Given the description of an element on the screen output the (x, y) to click on. 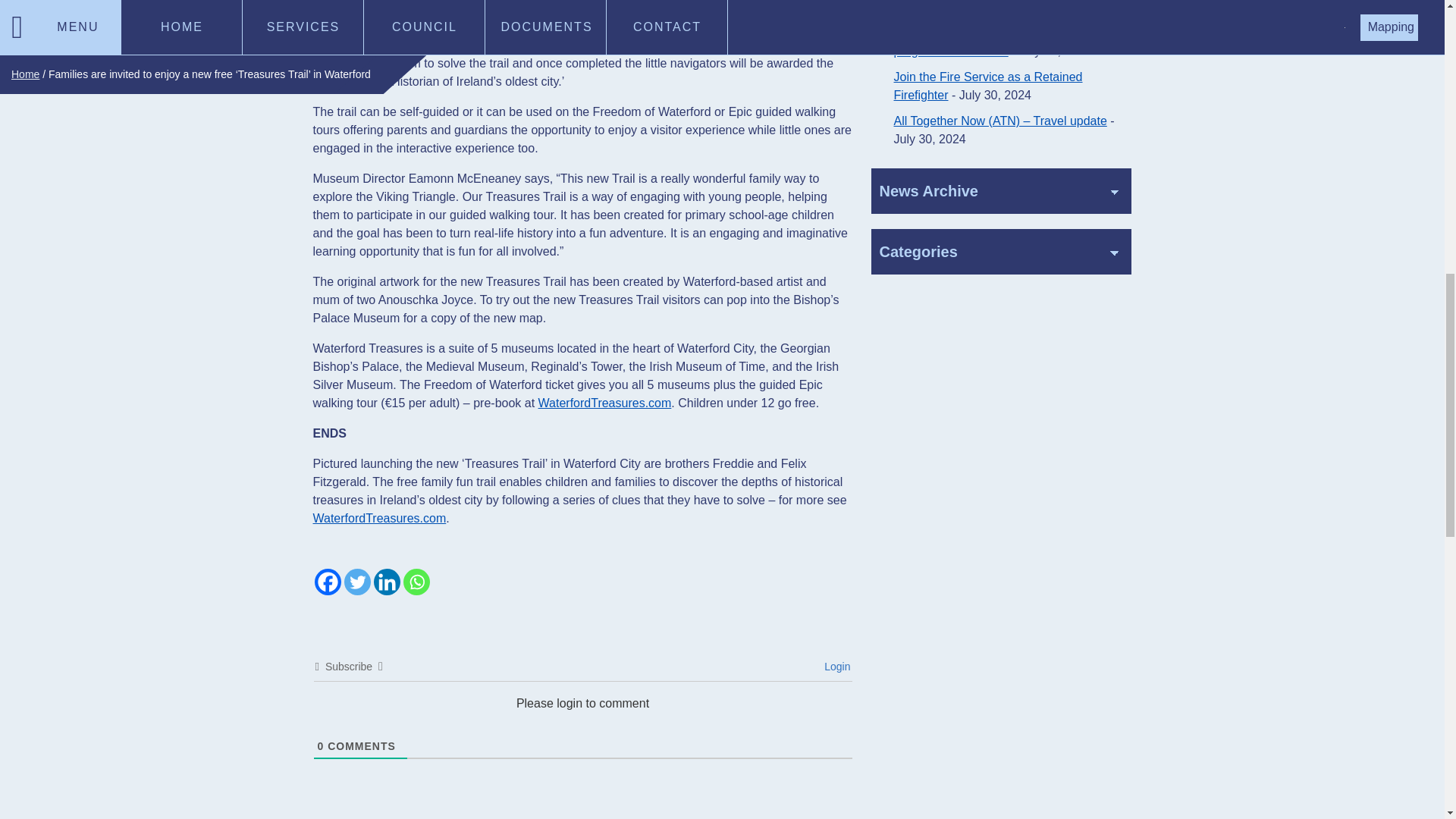
Linkedin (385, 581)
Twitter (357, 581)
Join the Fire Service as a Retained Firefighter (987, 85)
Login (834, 666)
Facebook (327, 581)
WaterfordTreasures.com (379, 518)
WaterfordTreasures.com (604, 402)
Whatsapp (416, 581)
